Given the description of an element on the screen output the (x, y) to click on. 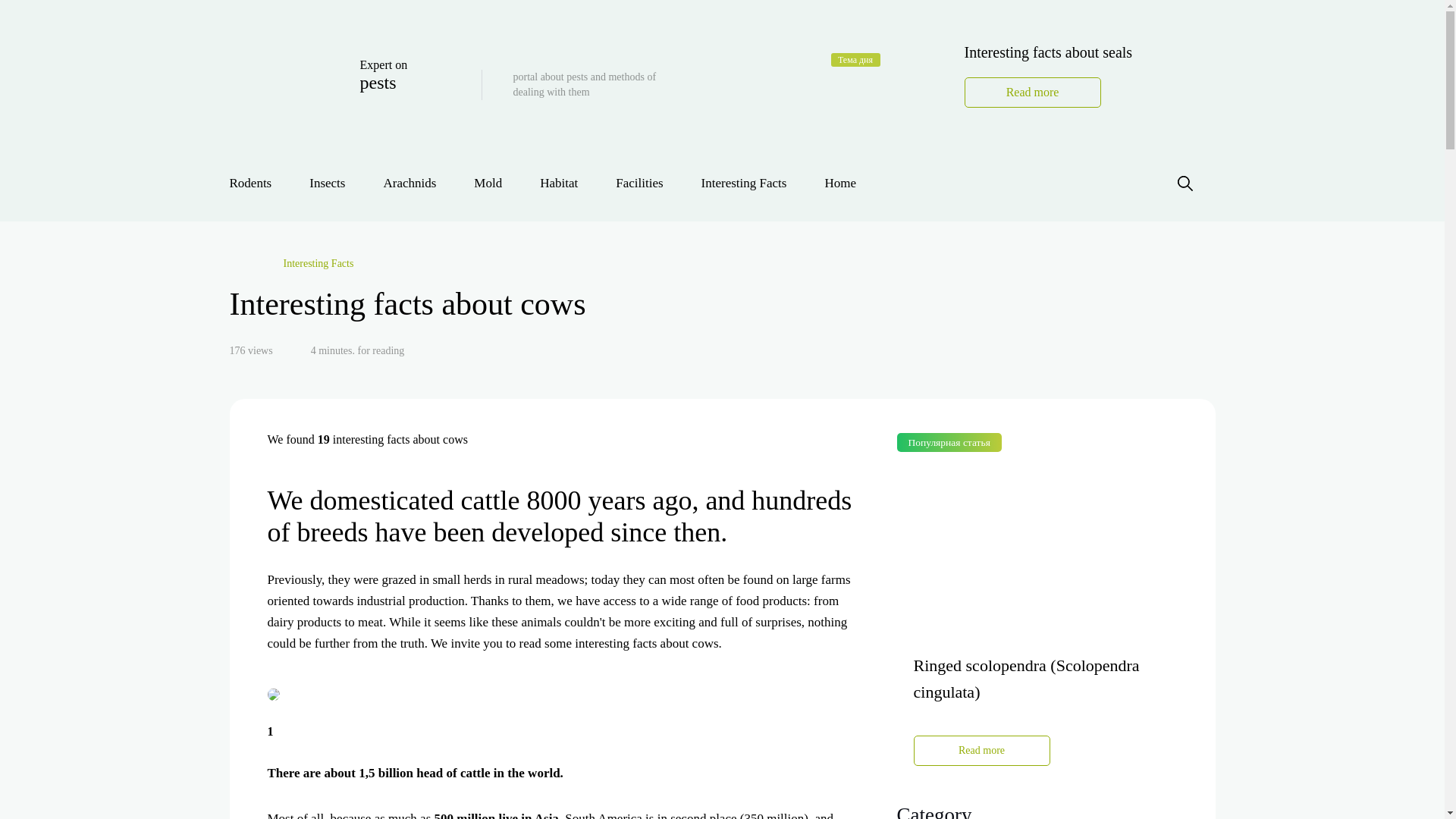
Mold (487, 183)
Interesting Facts (744, 183)
Facilities (354, 83)
Interesting Facts (638, 183)
Insects (291, 263)
Habitat (326, 183)
Arachnids (558, 183)
Home (409, 183)
